Given the description of an element on the screen output the (x, y) to click on. 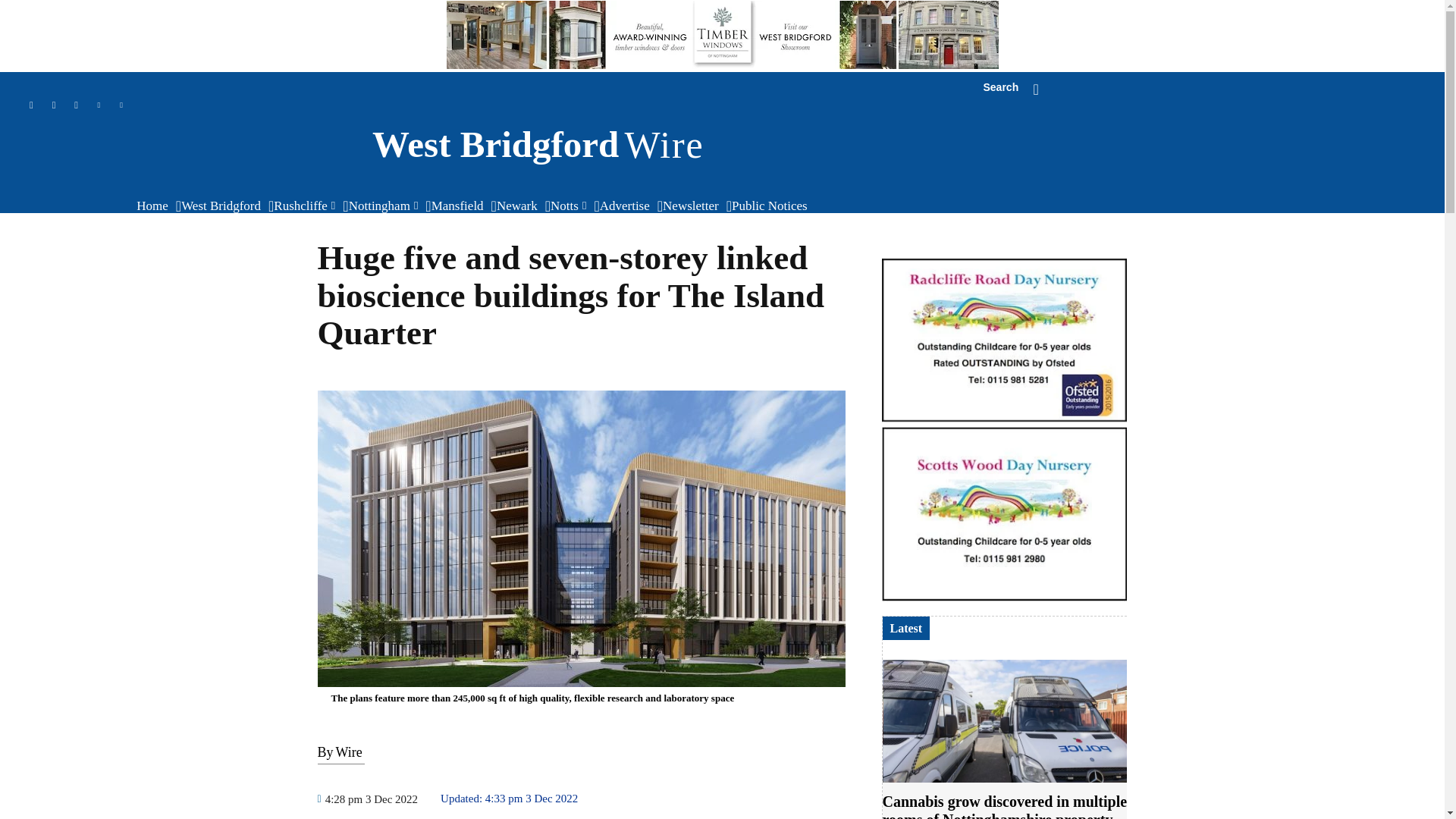
Screen-Shot-2016-06-02-at-10.03.04 (1003, 340)
Instagram (54, 105)
Tiktok (30, 105)
Screen-Shot-2016-06-02-at-10.03.14 (1003, 513)
Twitter (121, 105)
Linkedin (97, 105)
Facebook (75, 105)
